Given the description of an element on the screen output the (x, y) to click on. 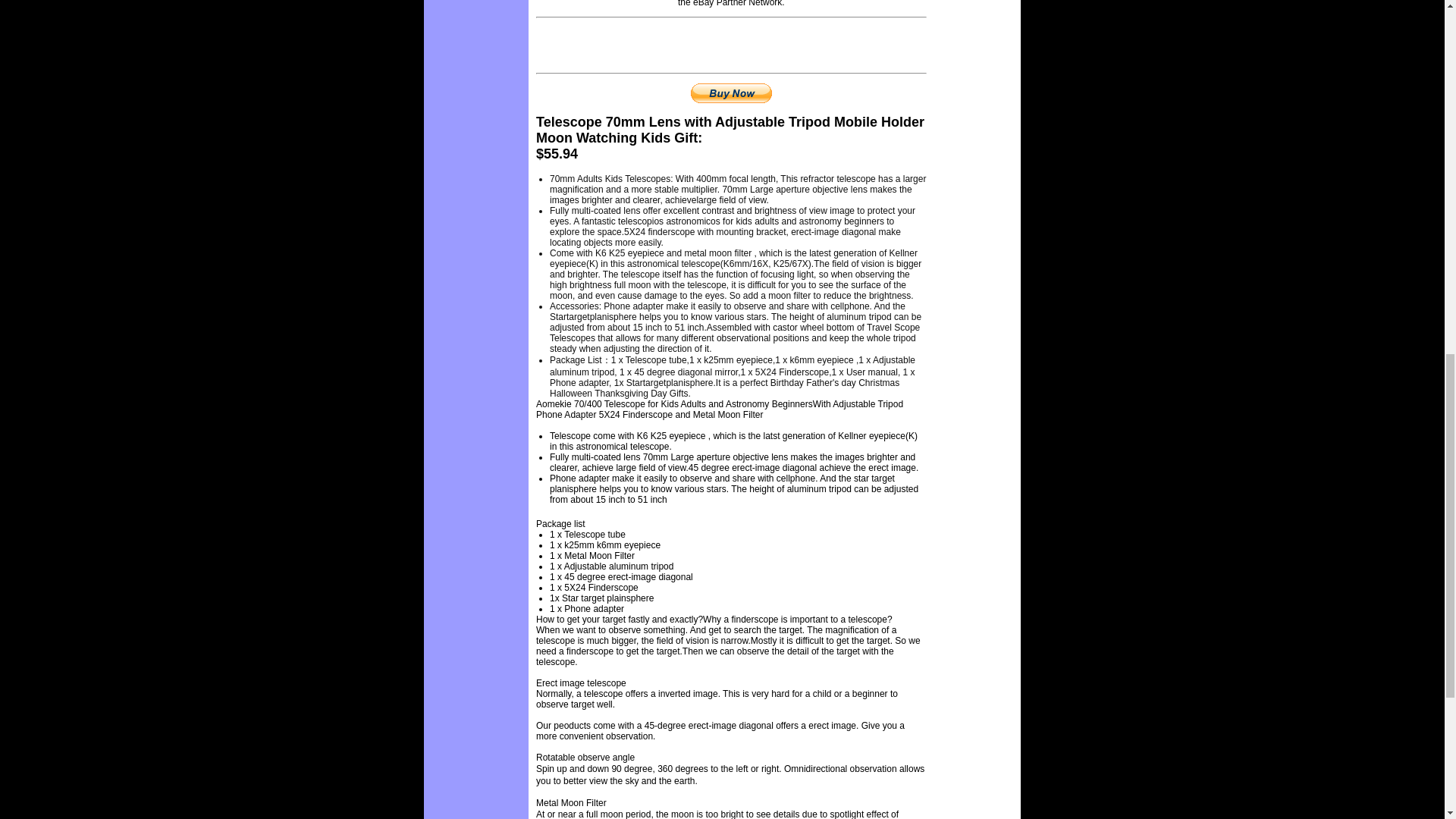
Buy Now (730, 93)
